Given the description of an element on the screen output the (x, y) to click on. 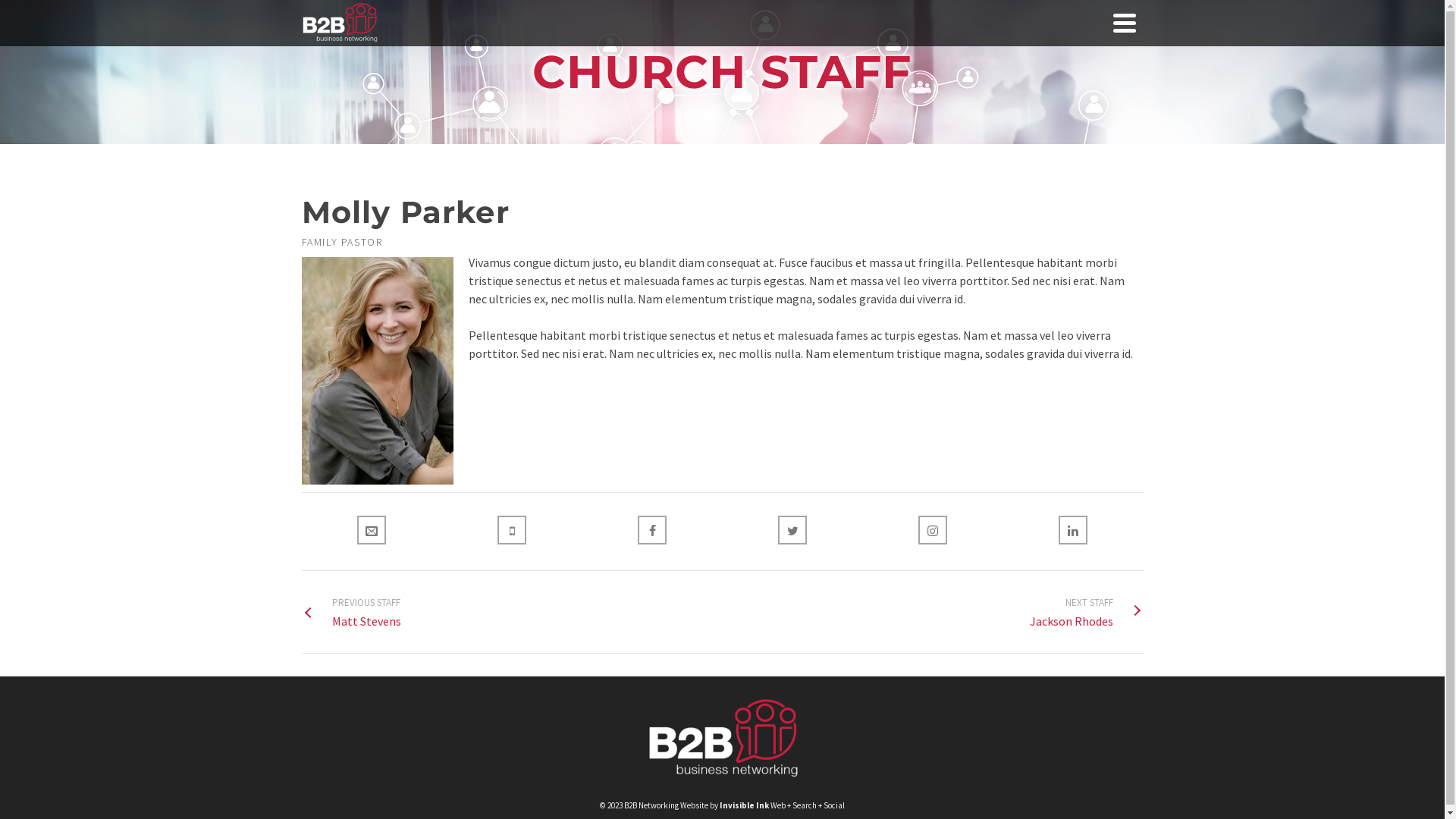
Invisible Ink Element type: text (743, 805)
NEXT STAFF
Jackson Rhodes Element type: text (1086, 611)
PREVIOUS STAFF
Matt Stevens Element type: text (351, 611)
